Given the description of an element on the screen output the (x, y) to click on. 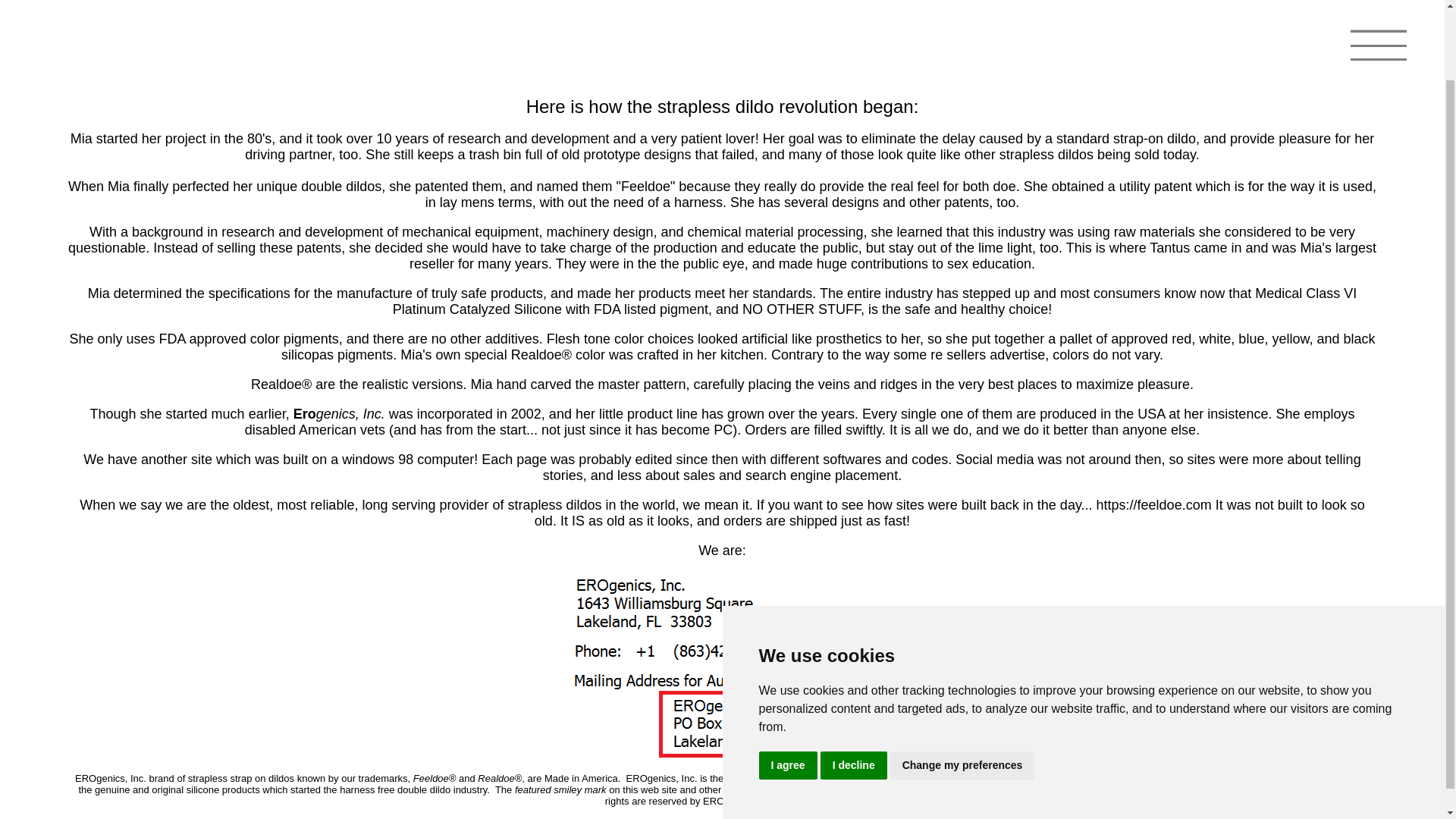
Change my preferences (962, 684)
I agree (787, 684)
I decline (853, 684)
